Given the description of an element on the screen output the (x, y) to click on. 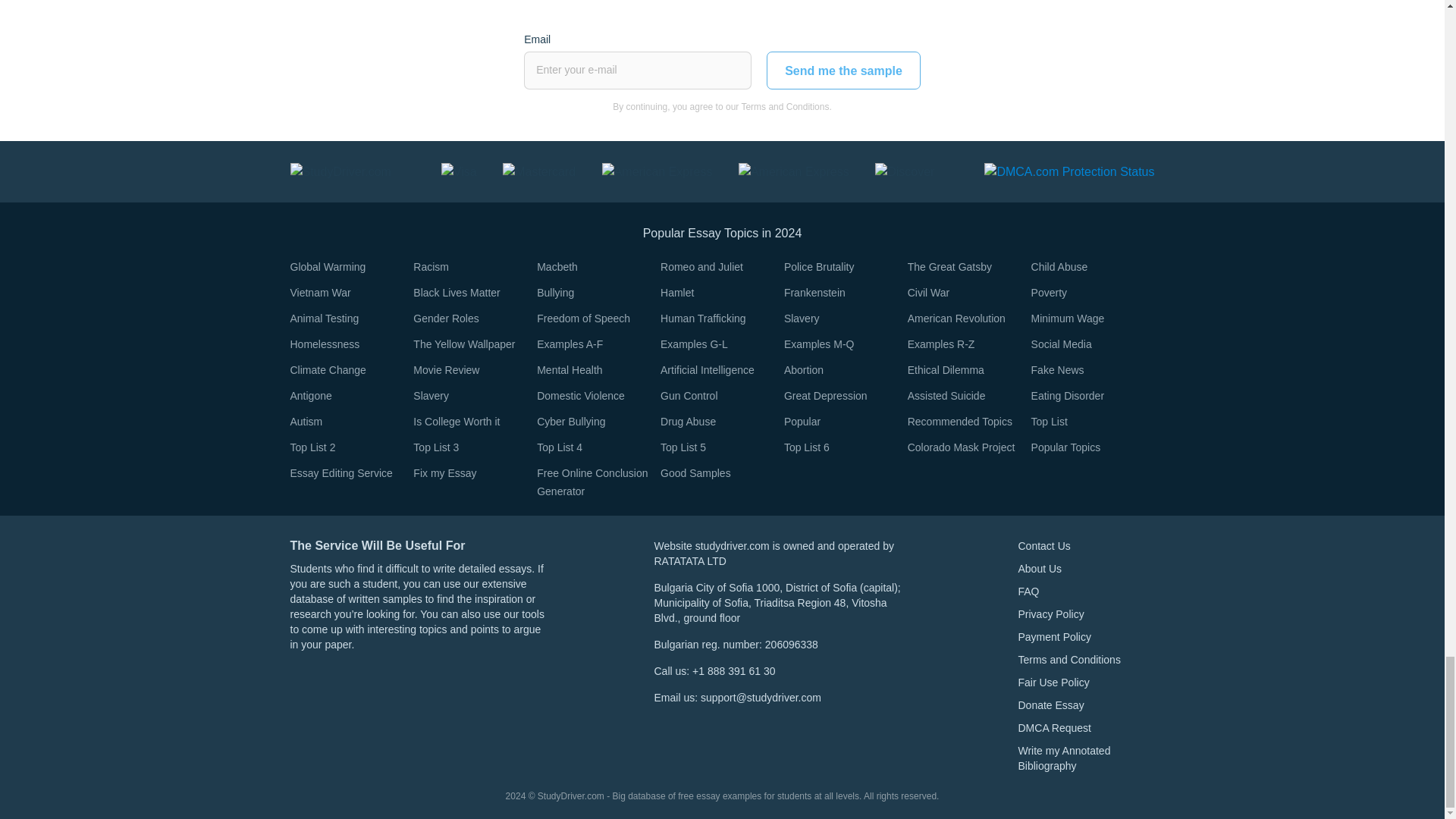
DMCA.com Protection Status (1069, 170)
